Given the description of an element on the screen output the (x, y) to click on. 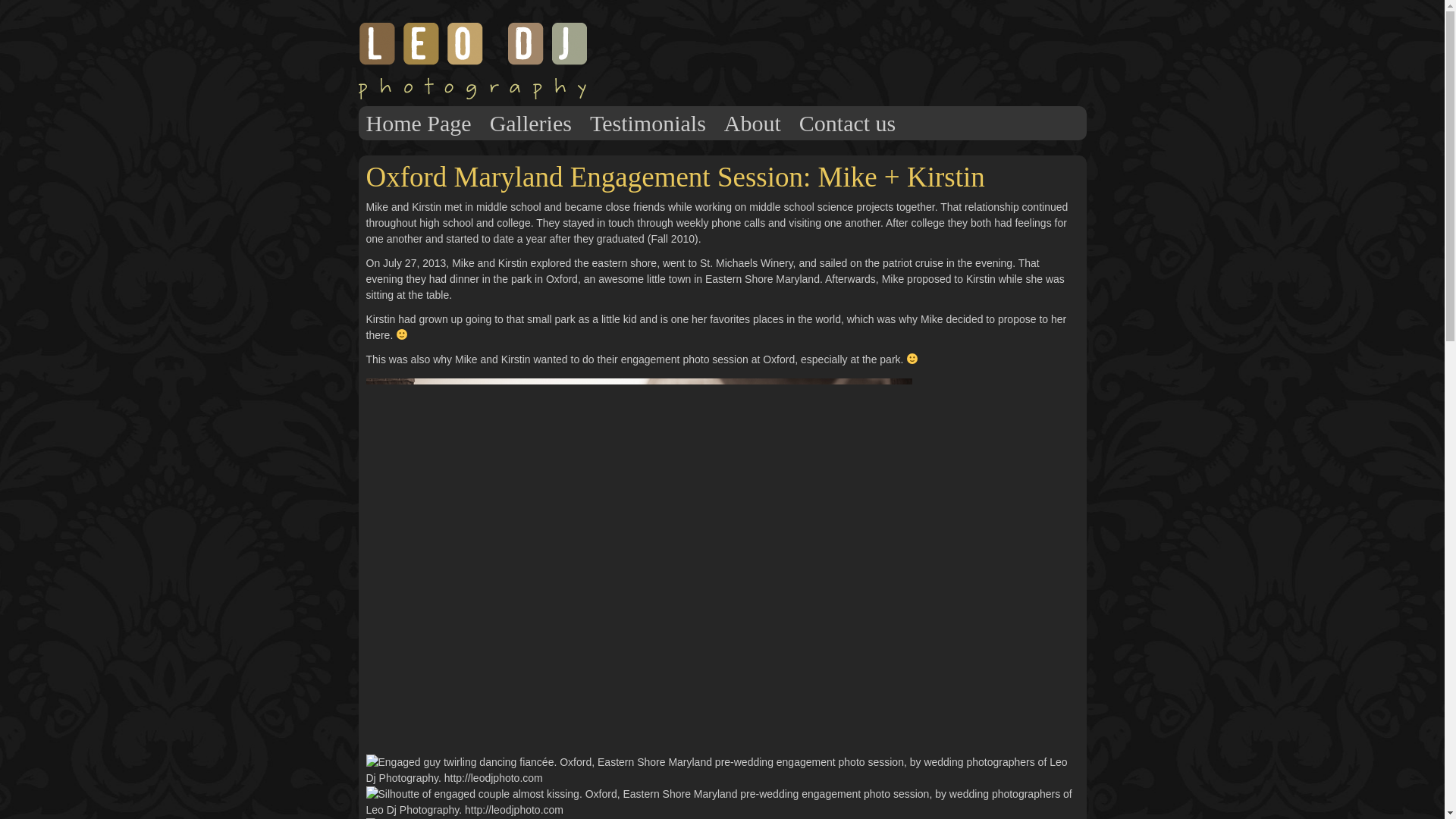
Contact us (848, 123)
Galleries (530, 123)
Testimonials (647, 123)
About (752, 123)
Home Page (418, 123)
